Given the description of an element on the screen output the (x, y) to click on. 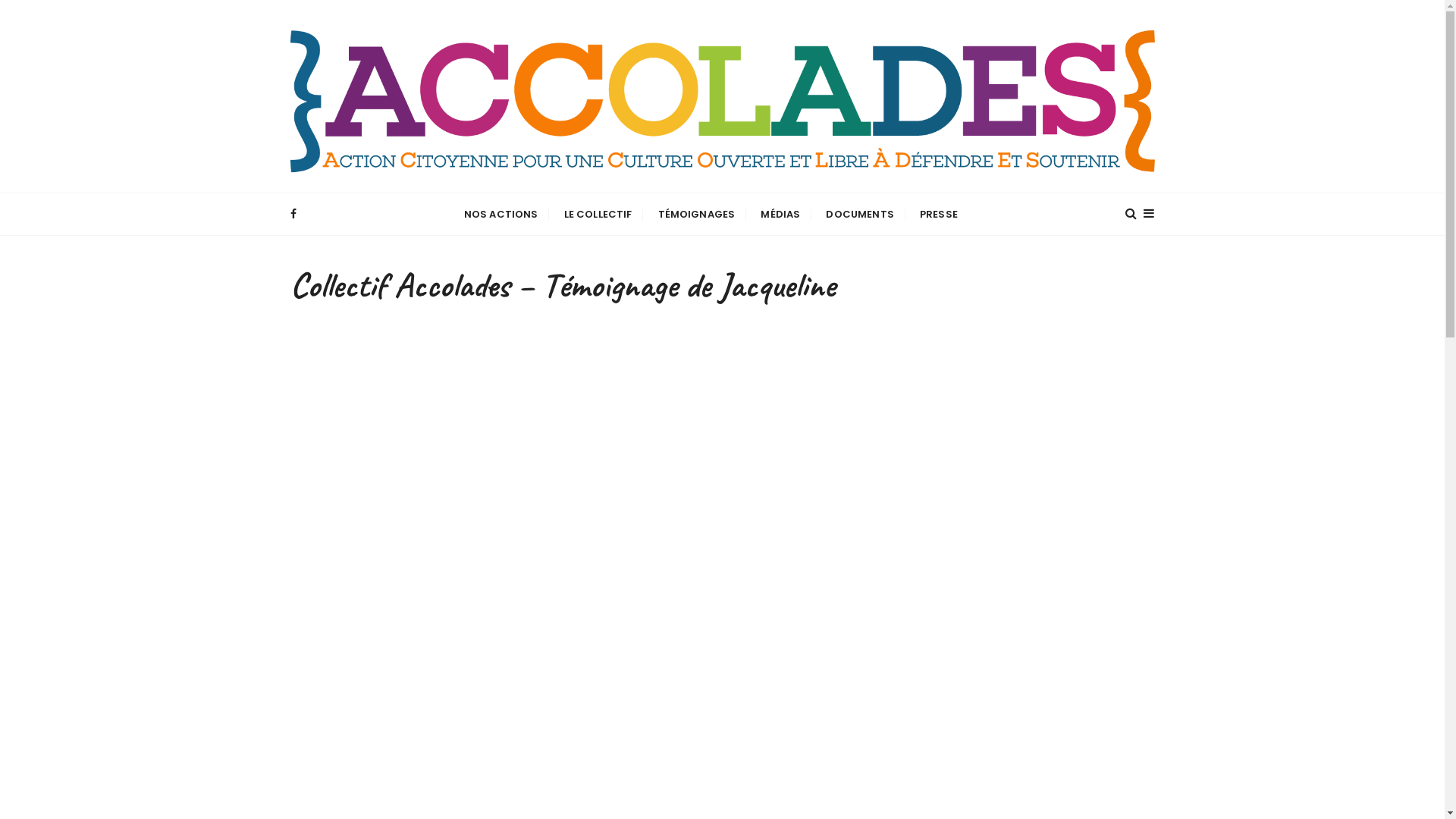
LE COLLECTIF Element type: text (597, 213)
NOS ACTIONS Element type: text (500, 213)
DOCUMENTS Element type: text (859, 213)
PRESSE Element type: text (938, 213)
